Given the description of an element on the screen output the (x, y) to click on. 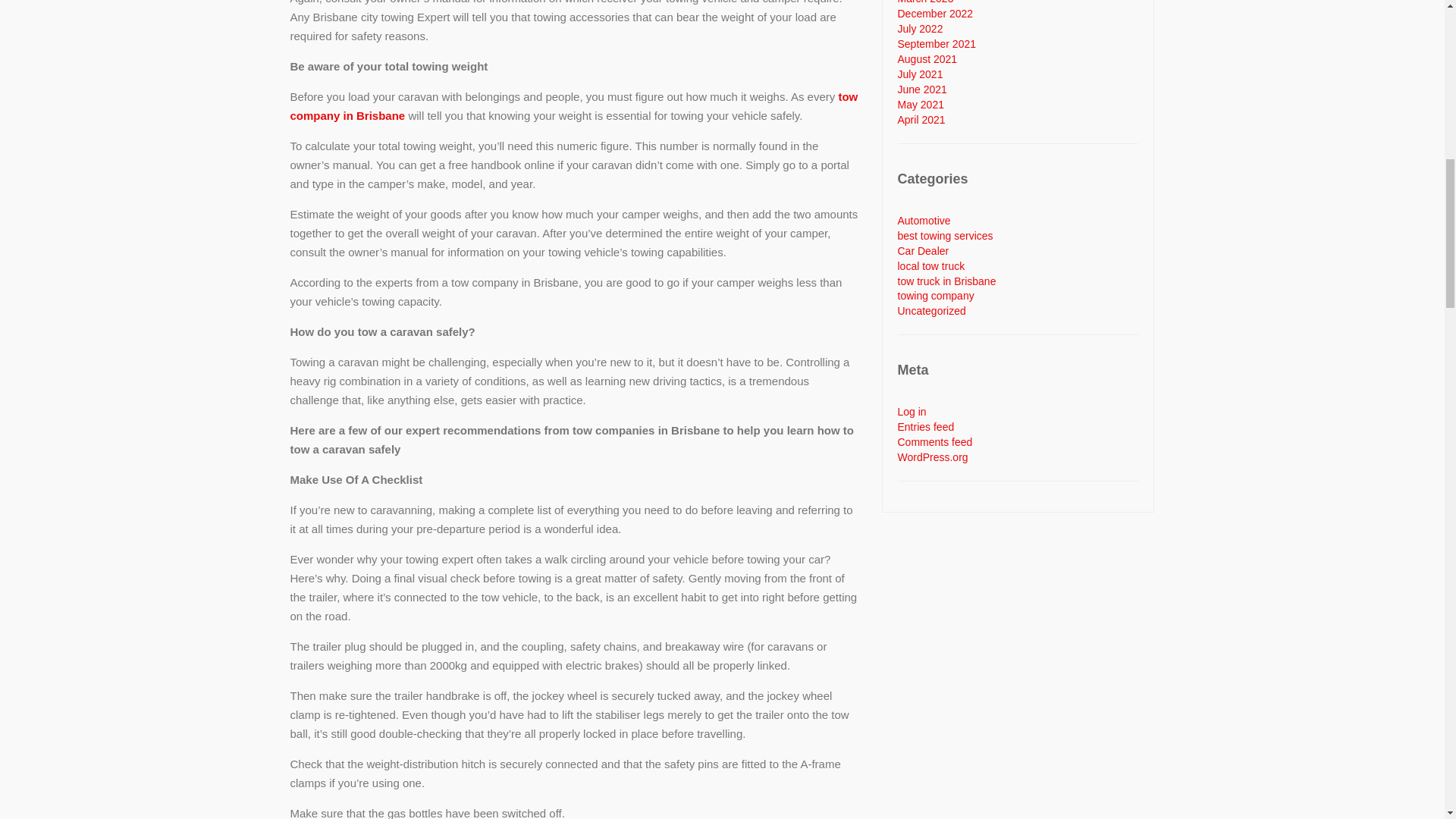
July 2022 (920, 28)
tow company in Brisbane (573, 106)
July 2021 (920, 73)
December 2022 (936, 13)
September 2021 (937, 43)
June 2021 (922, 89)
March 2023 (925, 2)
August 2021 (928, 59)
